Given the description of an element on the screen output the (x, y) to click on. 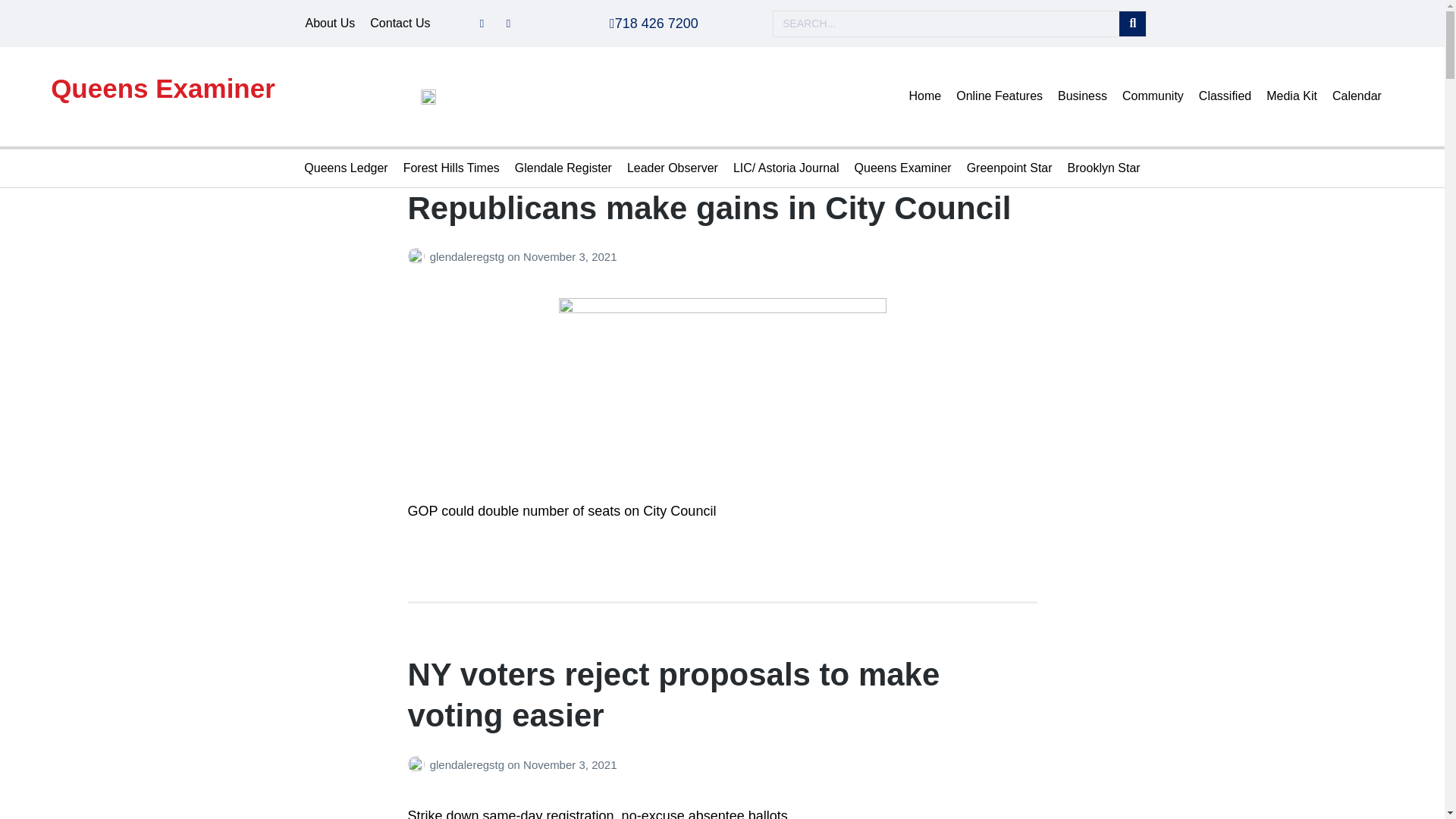
Posts by glendaleregstg (418, 256)
Contact Us (400, 23)
Posts by glendaleregstg (418, 764)
Online Features (999, 96)
Home (925, 96)
Queens Examiner (162, 88)
Business (1082, 96)
Community (1153, 96)
About Us (329, 23)
718 426 7200 (653, 23)
